Given the description of an element on the screen output the (x, y) to click on. 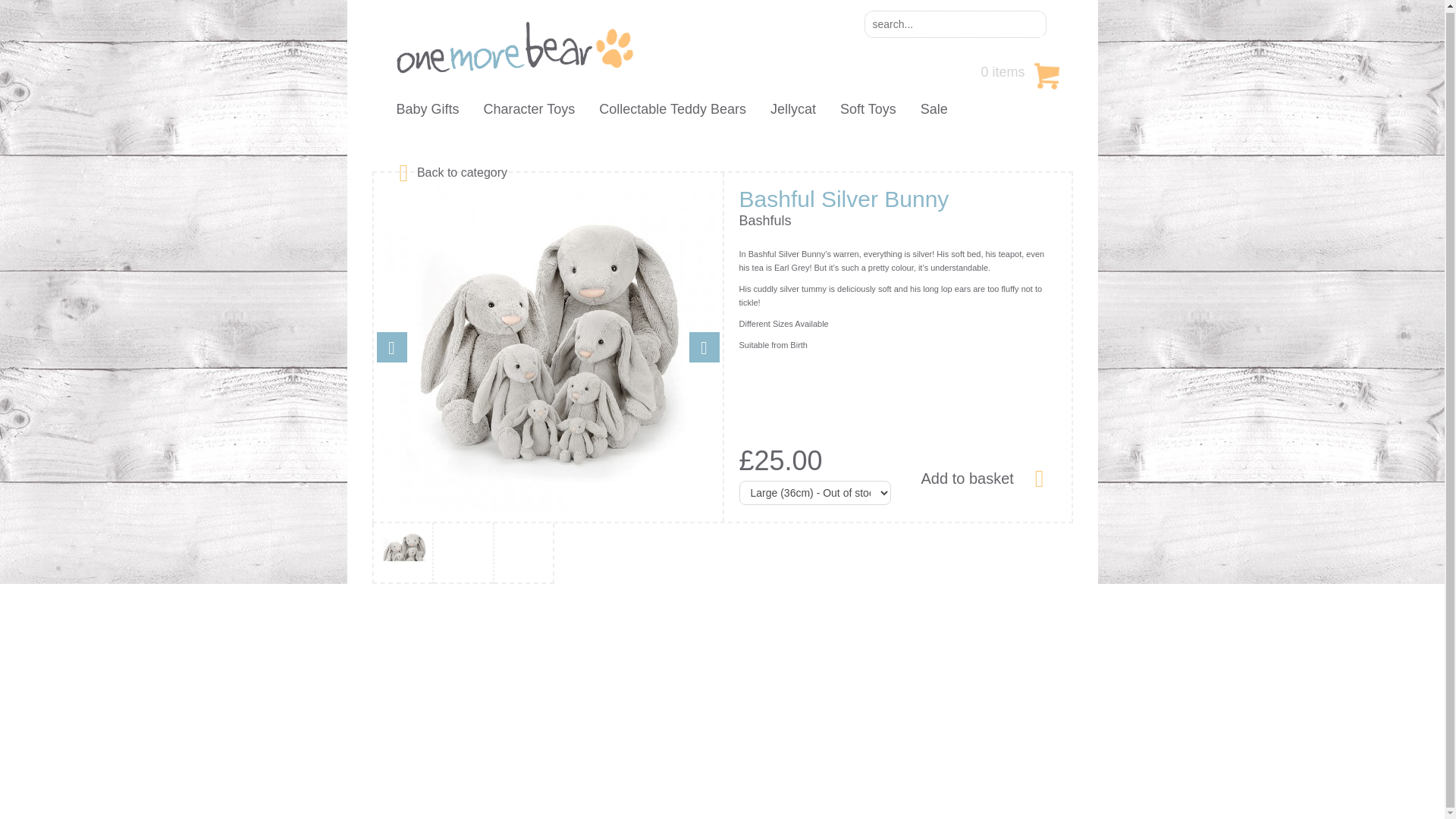
Back to category (462, 171)
Add to basket (980, 476)
Contact Us (397, 702)
Collectable Teddy Bears (671, 109)
Sale (933, 109)
Jellycat (792, 109)
Search (1029, 24)
One More Bear (514, 47)
Delivery Information (418, 762)
Soft Toys (868, 109)
Gift Vouchers (403, 732)
Site Map (580, 732)
About Us (392, 671)
Baby Gifts (427, 109)
Exesios BDD (743, 801)
